Given the description of an element on the screen output the (x, y) to click on. 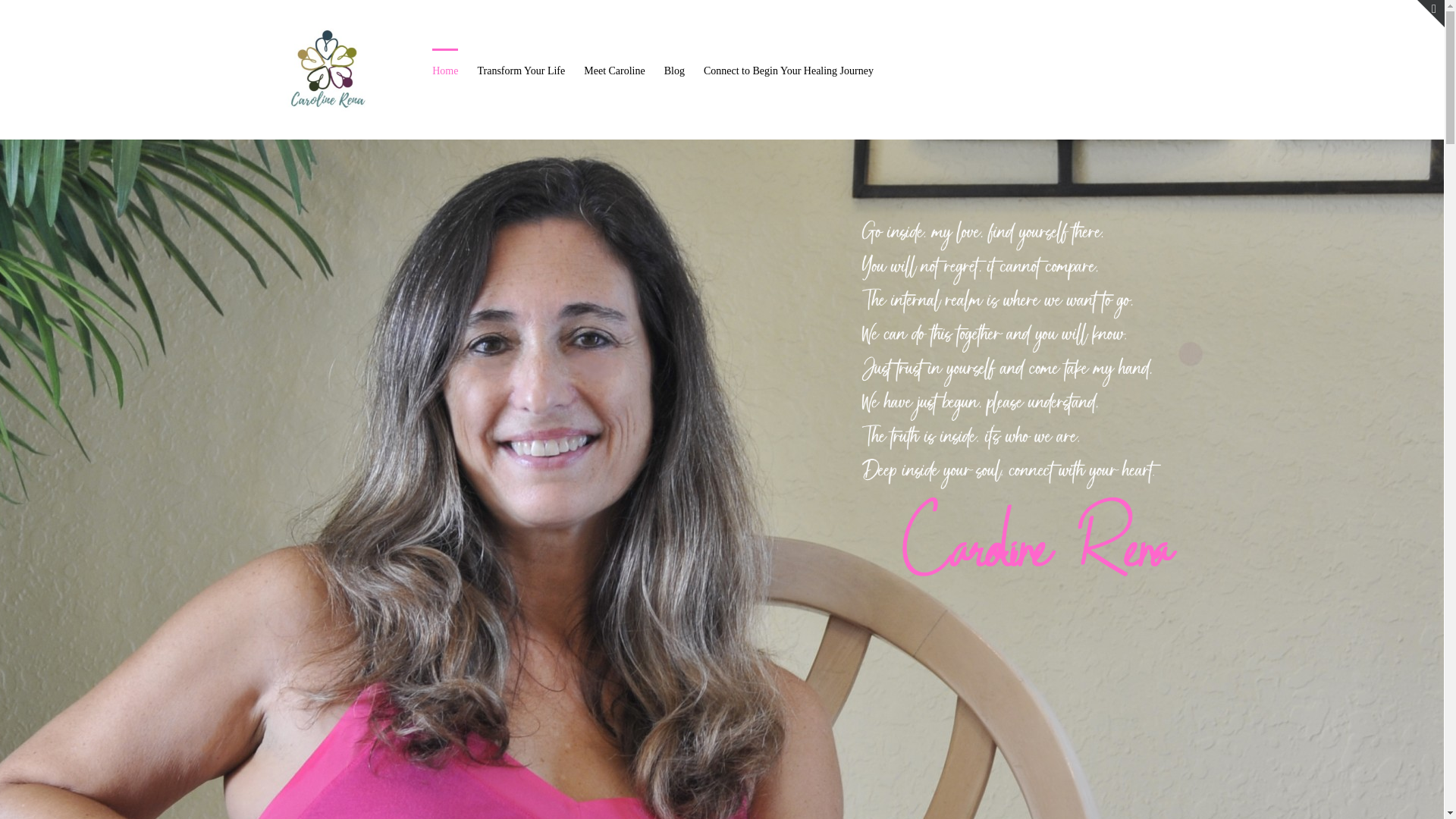
Meet Caroline (614, 69)
Transform Your Life (520, 69)
Connect to Begin Your Healing Journey (788, 69)
